Given the description of an element on the screen output the (x, y) to click on. 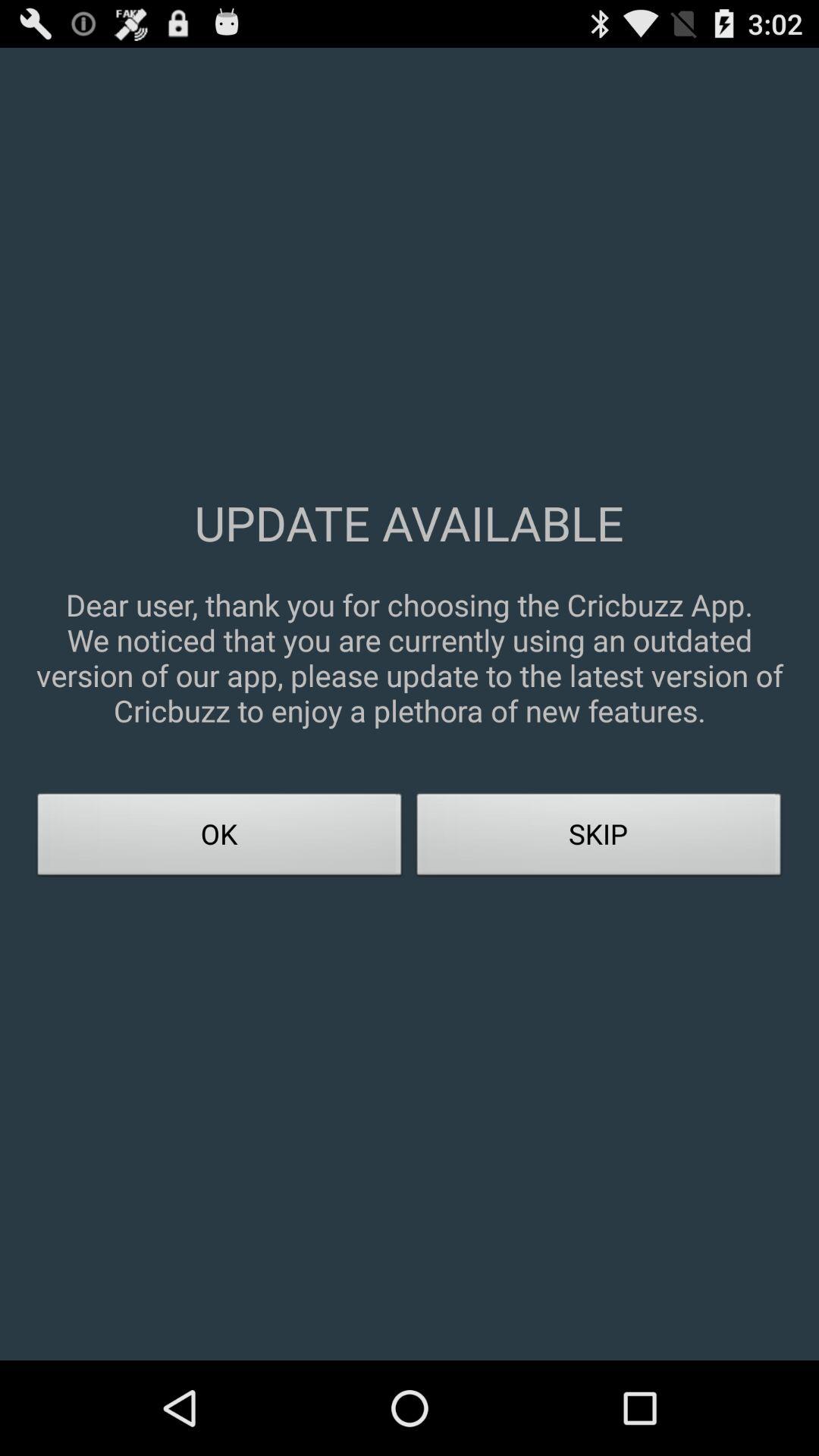
jump until the skip button (598, 838)
